Given the description of an element on the screen output the (x, y) to click on. 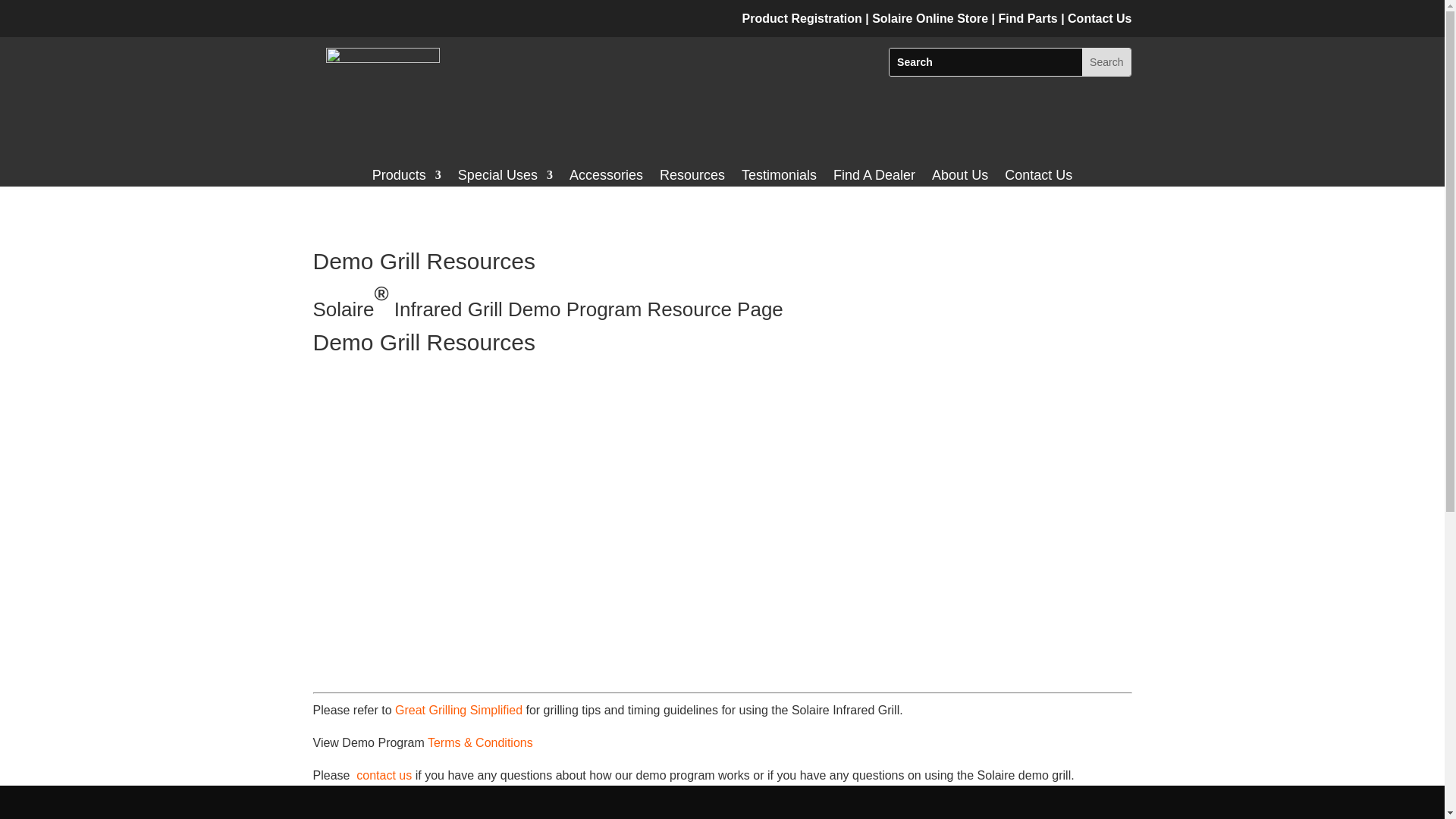
Contact Us (1099, 18)
Products (406, 177)
Solaire Online Store (931, 18)
Product Registration (801, 18)
Search (1106, 62)
About Us (959, 177)
Special Uses (505, 177)
Contact Us (1037, 177)
Search (1106, 62)
